Given the description of an element on the screen output the (x, y) to click on. 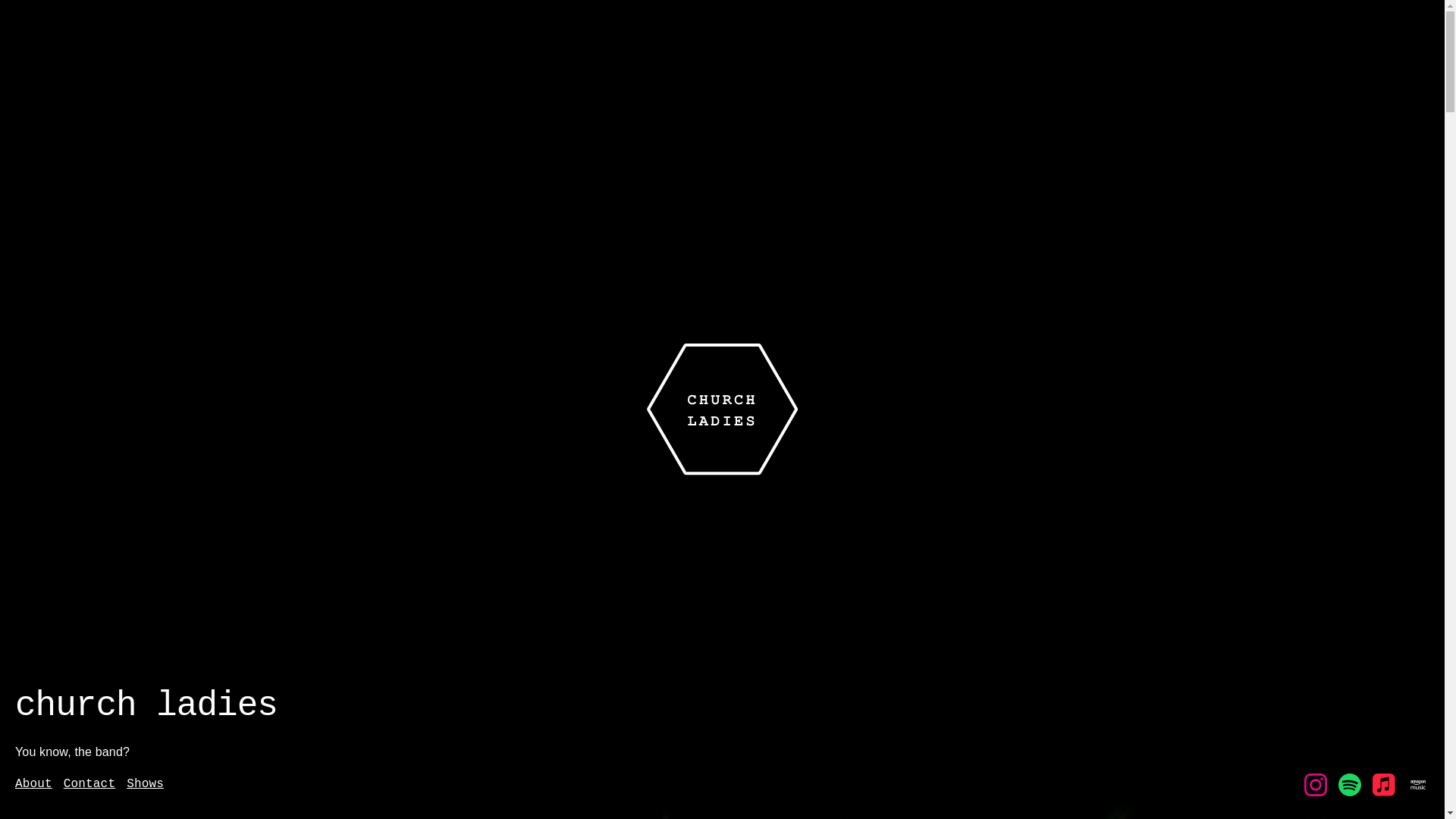
Shows Element type: text (144, 784)
Contact Element type: text (89, 784)
About Element type: text (33, 784)
